Given the description of an element on the screen output the (x, y) to click on. 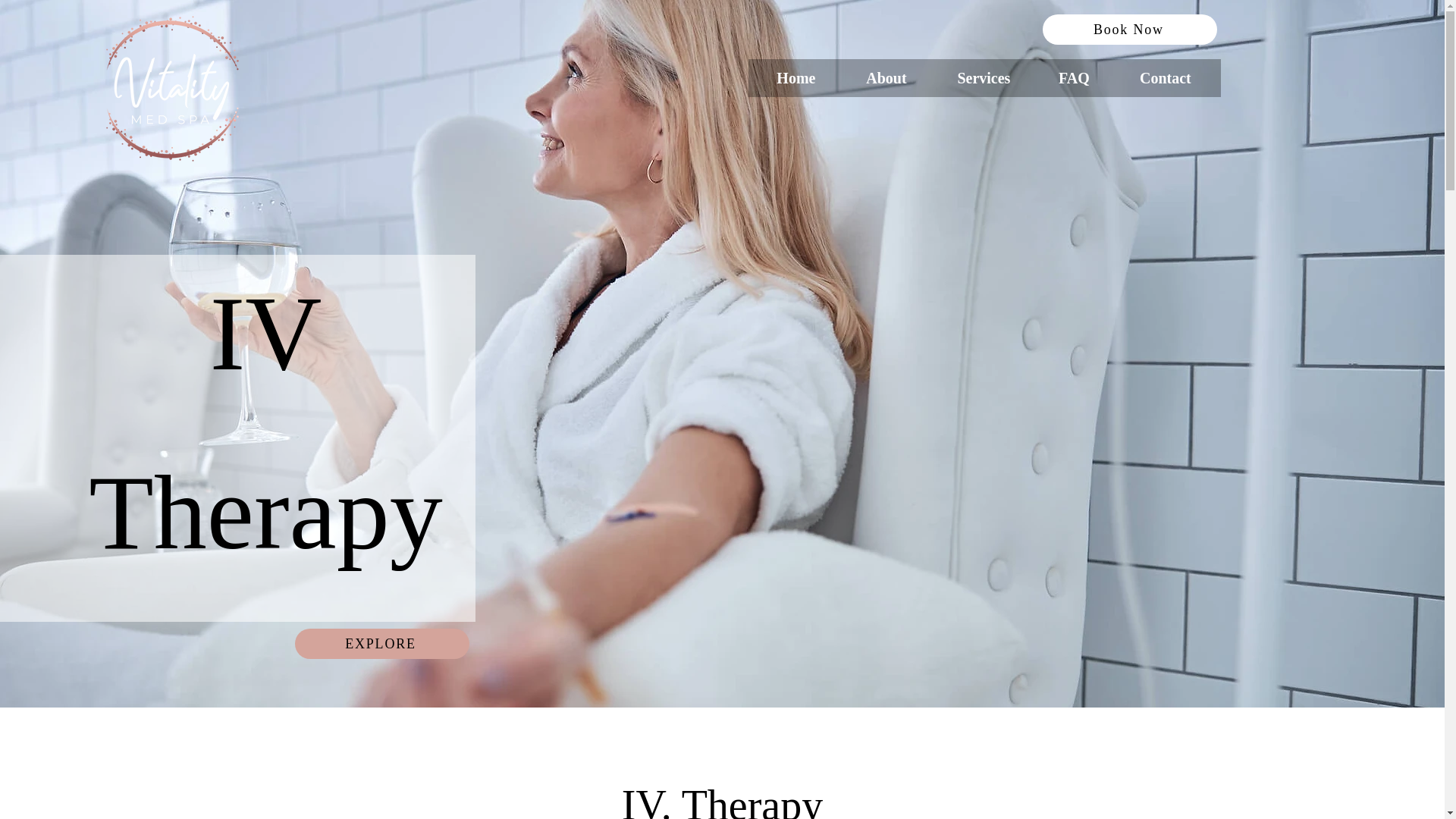
EXPLORE (381, 643)
Book Now (1129, 29)
Contact (1165, 78)
About (886, 78)
FAQ (1073, 78)
Home (796, 78)
Services (983, 78)
